Given the description of an element on the screen output the (x, y) to click on. 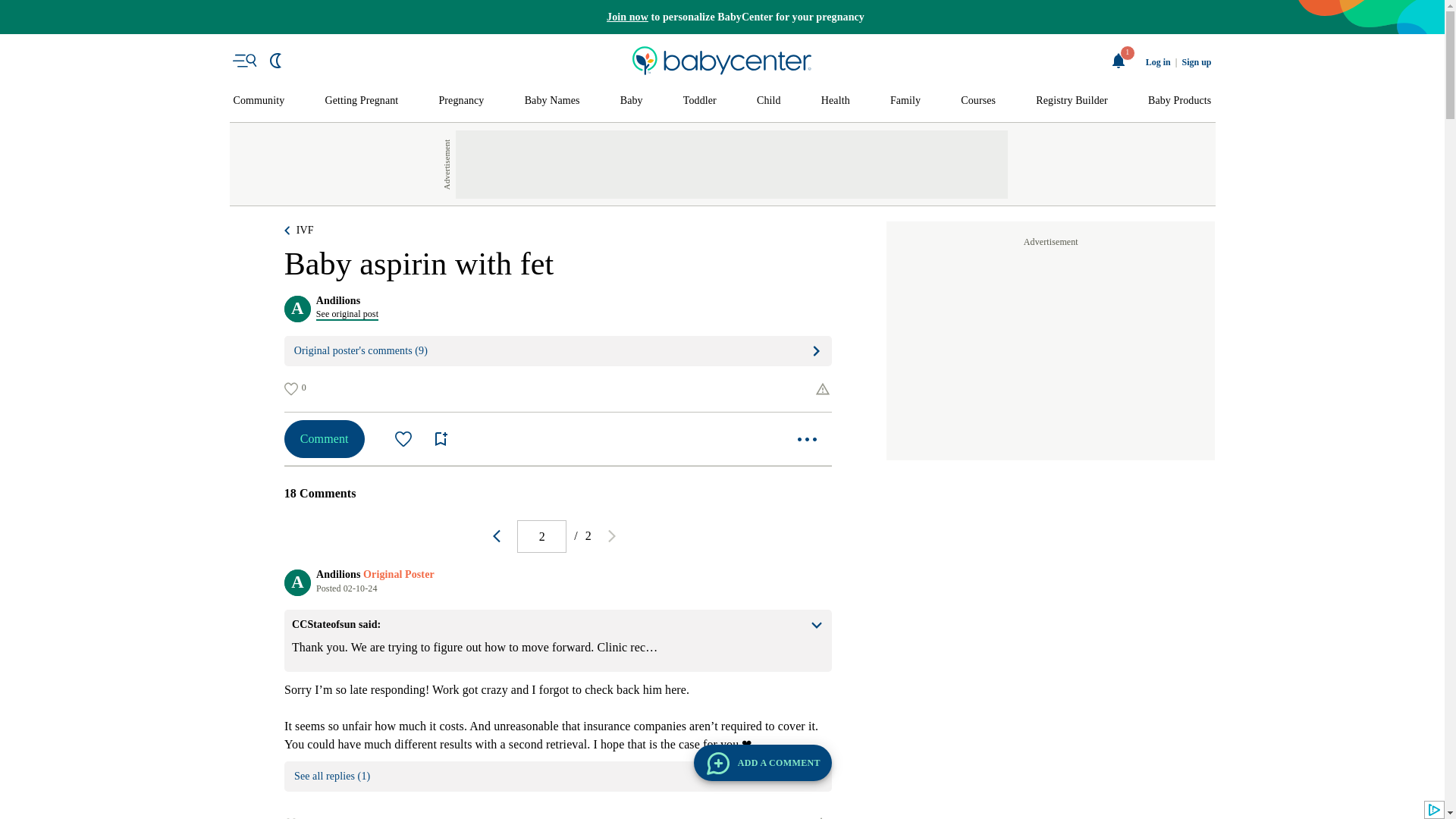
Toddler (699, 101)
Health (835, 101)
Go to page number (541, 536)
1 (1118, 60)
Registry Builder (1071, 101)
Sign up (1195, 61)
Child (768, 101)
Family (904, 101)
Pregnancy (460, 101)
Community (258, 101)
